Given the description of an element on the screen output the (x, y) to click on. 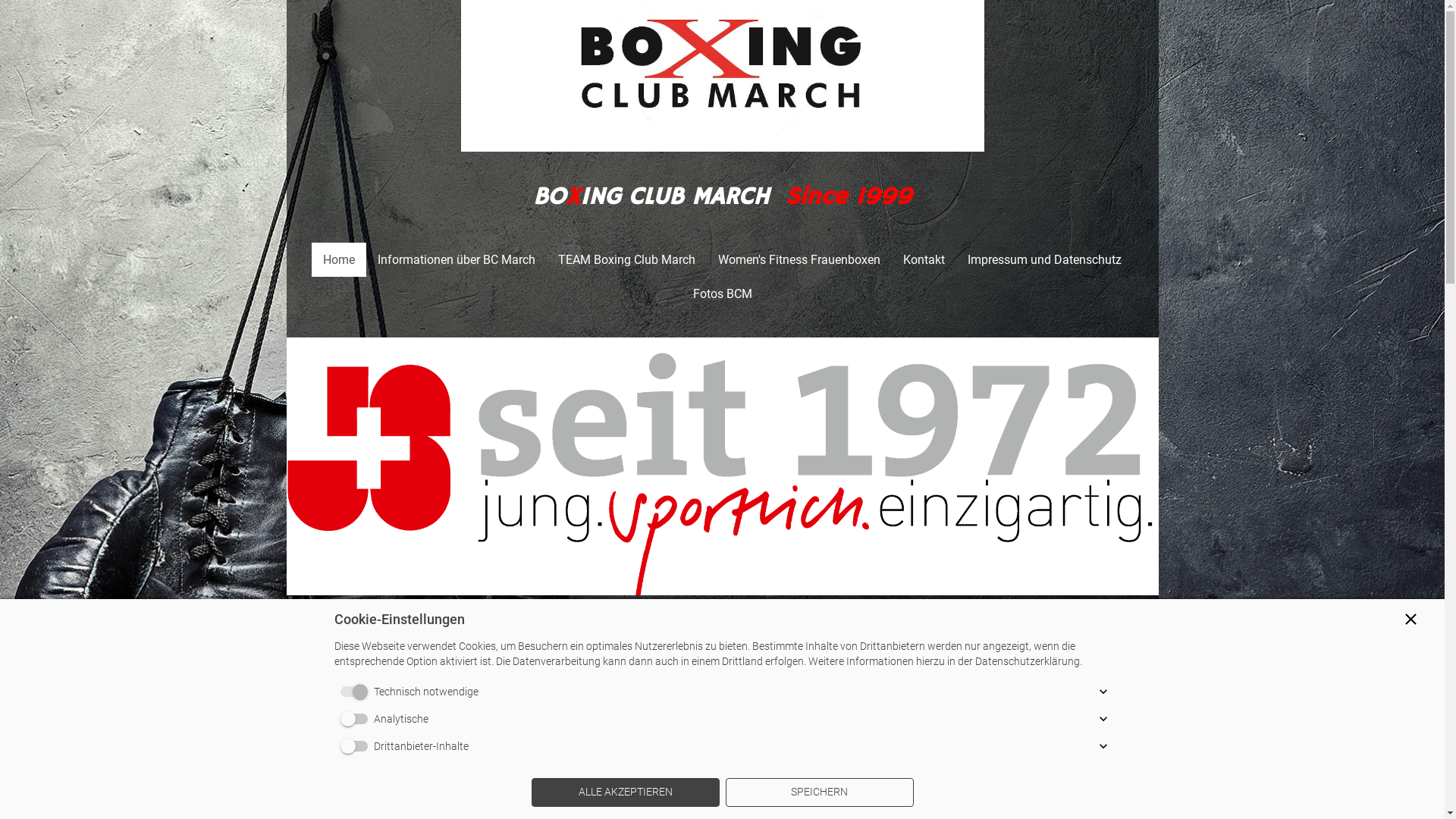
Kontakt Element type: text (923, 259)
SPEICHERN Element type: text (818, 792)
Home Element type: text (338, 259)
Fotos BCM Element type: text (721, 293)
ALLE AKZEPTIEREN Element type: text (624, 792)
TEAM Boxing Club March Element type: text (626, 259)
Impressum und Datenschutz Element type: text (1044, 259)
Cookie-Einstellungen Element type: text (728, 731)
Women's Fitness Frauenboxen Element type: text (798, 259)
